Given the description of an element on the screen output the (x, y) to click on. 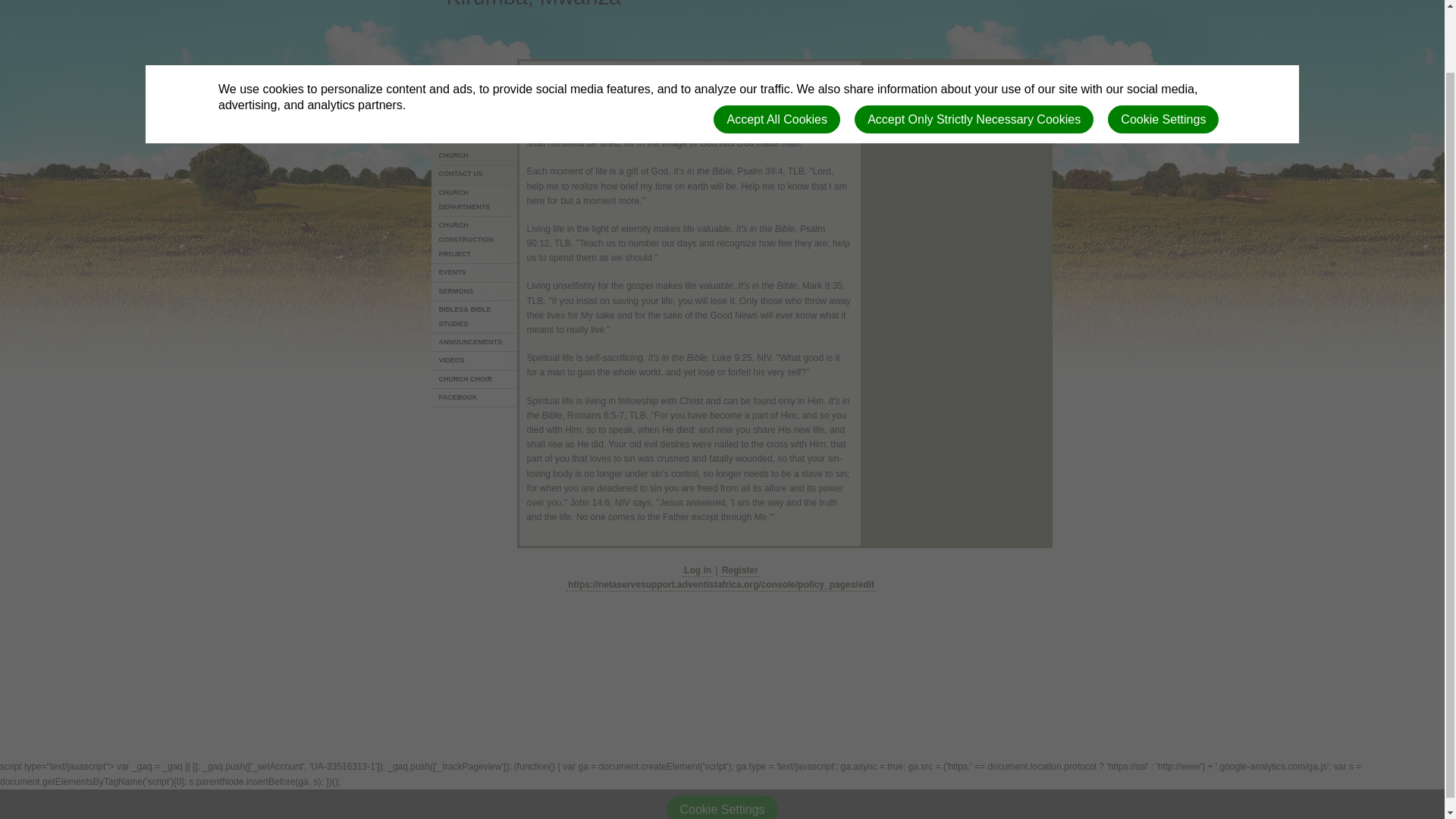
Cookie Settings (1163, 49)
ABOUT US (474, 123)
ANNOUNCEMENTS (474, 342)
FACEBOOK (474, 398)
CHURCH CHOIR (474, 380)
LEADERS OF THE CHURCH (474, 148)
Log in (697, 570)
OTHER LINKS (474, 105)
SERMONS (474, 291)
CONTACT US (474, 174)
